Given the description of an element on the screen output the (x, y) to click on. 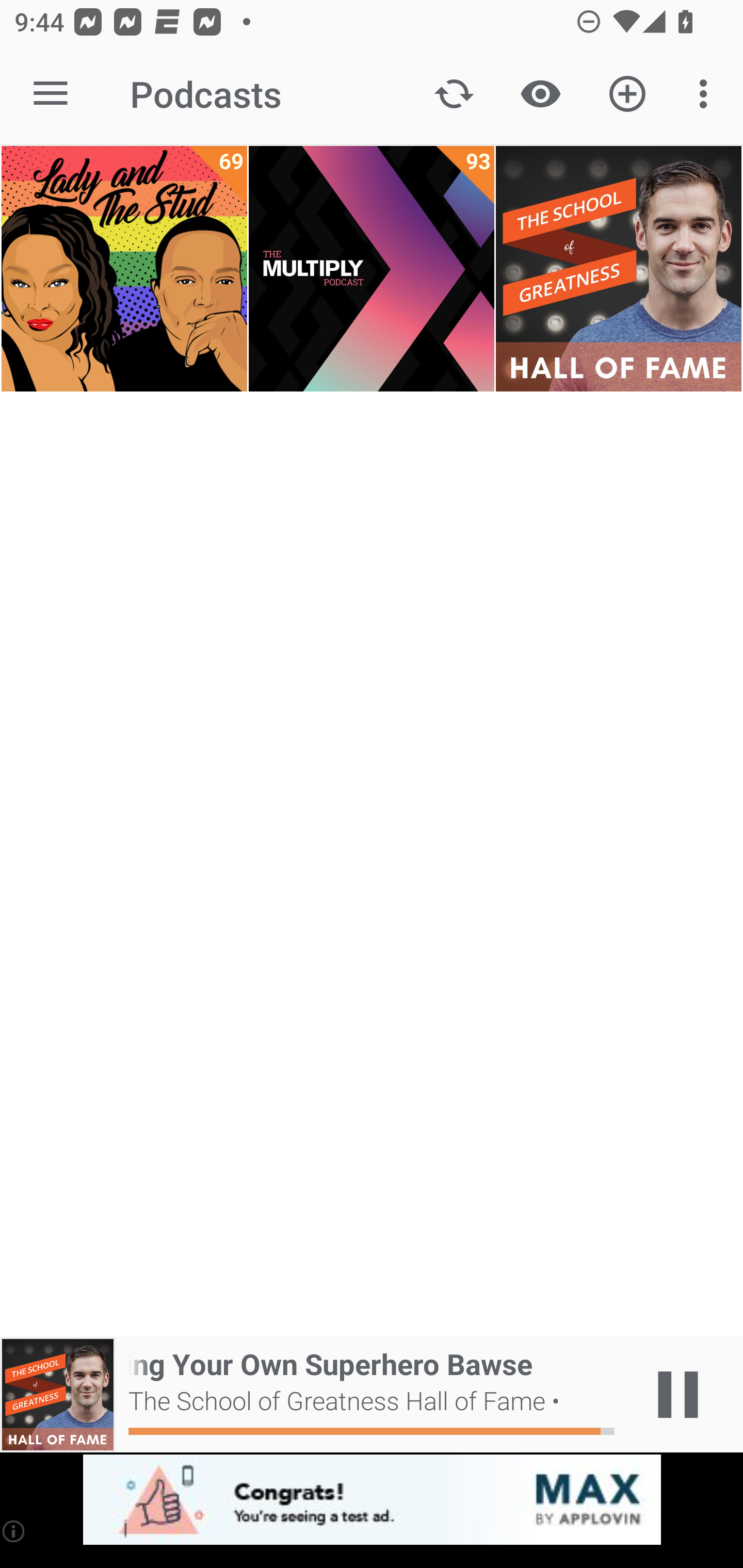
Open navigation sidebar (50, 93)
Update (453, 93)
Show / Hide played content (540, 93)
Add new Podcast (626, 93)
More options (706, 93)
Lady and The Stud 69 (124, 268)
The Multiply Podcast 93 (371, 268)
The School of Greatness Hall of Fame (618, 268)
Play / Pause (677, 1394)
app-monetization (371, 1500)
(i) (14, 1531)
